Given the description of an element on the screen output the (x, y) to click on. 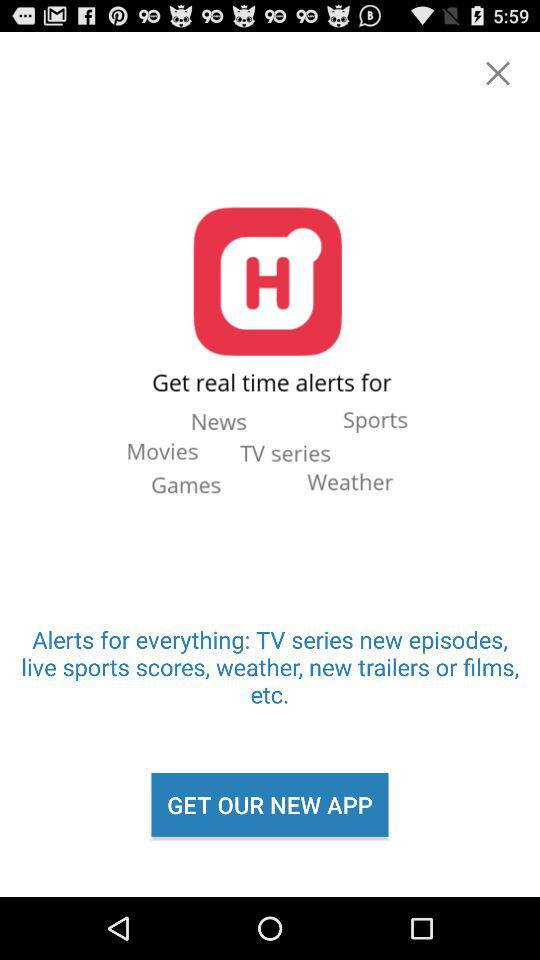
exit the page (498, 73)
